Given the description of an element on the screen output the (x, y) to click on. 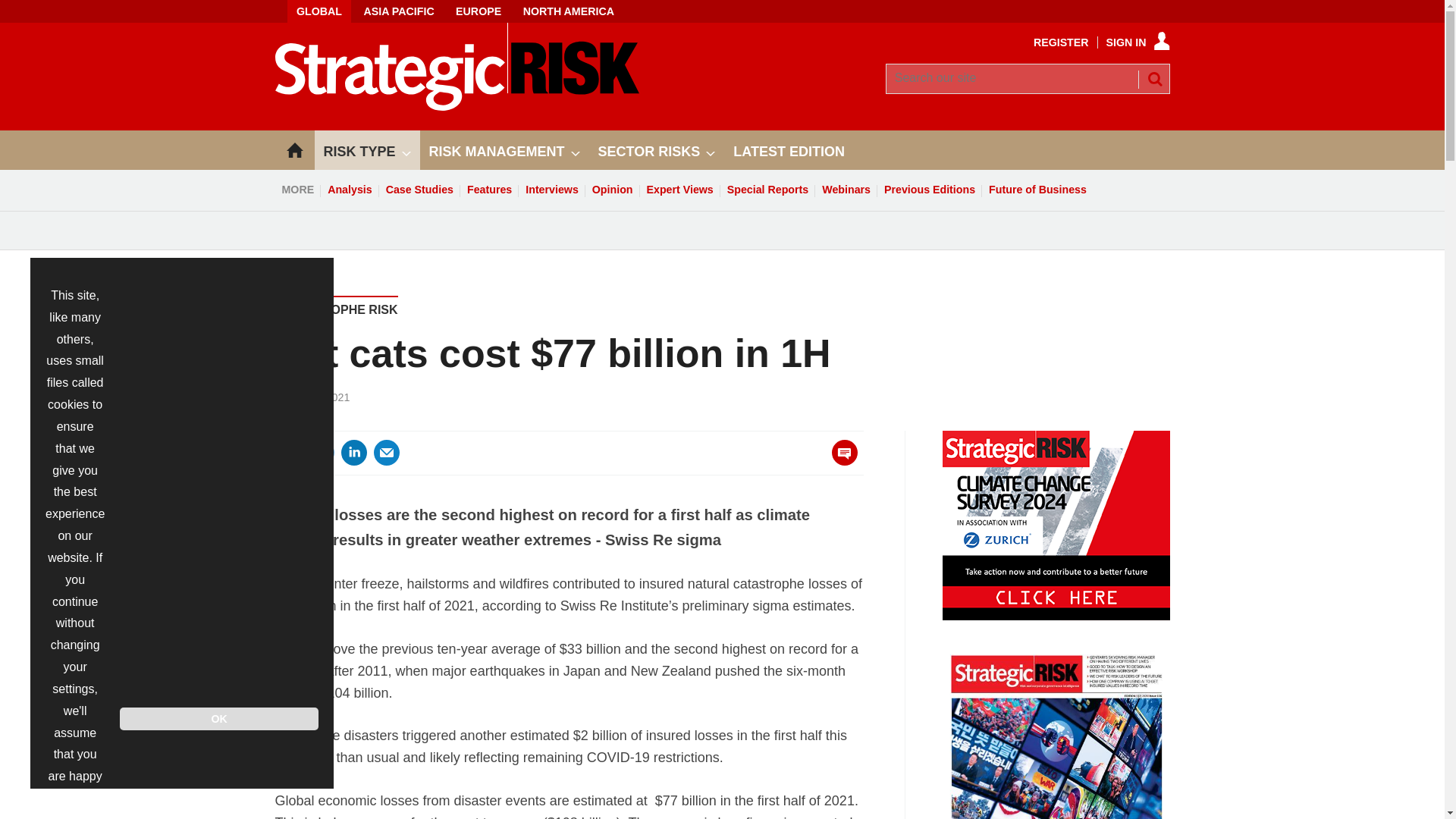
Analysis (349, 189)
Special Reports (767, 189)
Webinars (846, 189)
Features (489, 189)
Case Studies (419, 189)
Share this on Linked in (352, 452)
Insert Logo text (457, 106)
GLOBAL (318, 11)
EUROPE (478, 11)
ASIA PACIFIC (397, 11)
Expert Views (680, 189)
SEARCH (1153, 78)
Previous Editions (929, 189)
Share this on Facebook (288, 452)
OK (218, 718)
